Given the description of an element on the screen output the (x, y) to click on. 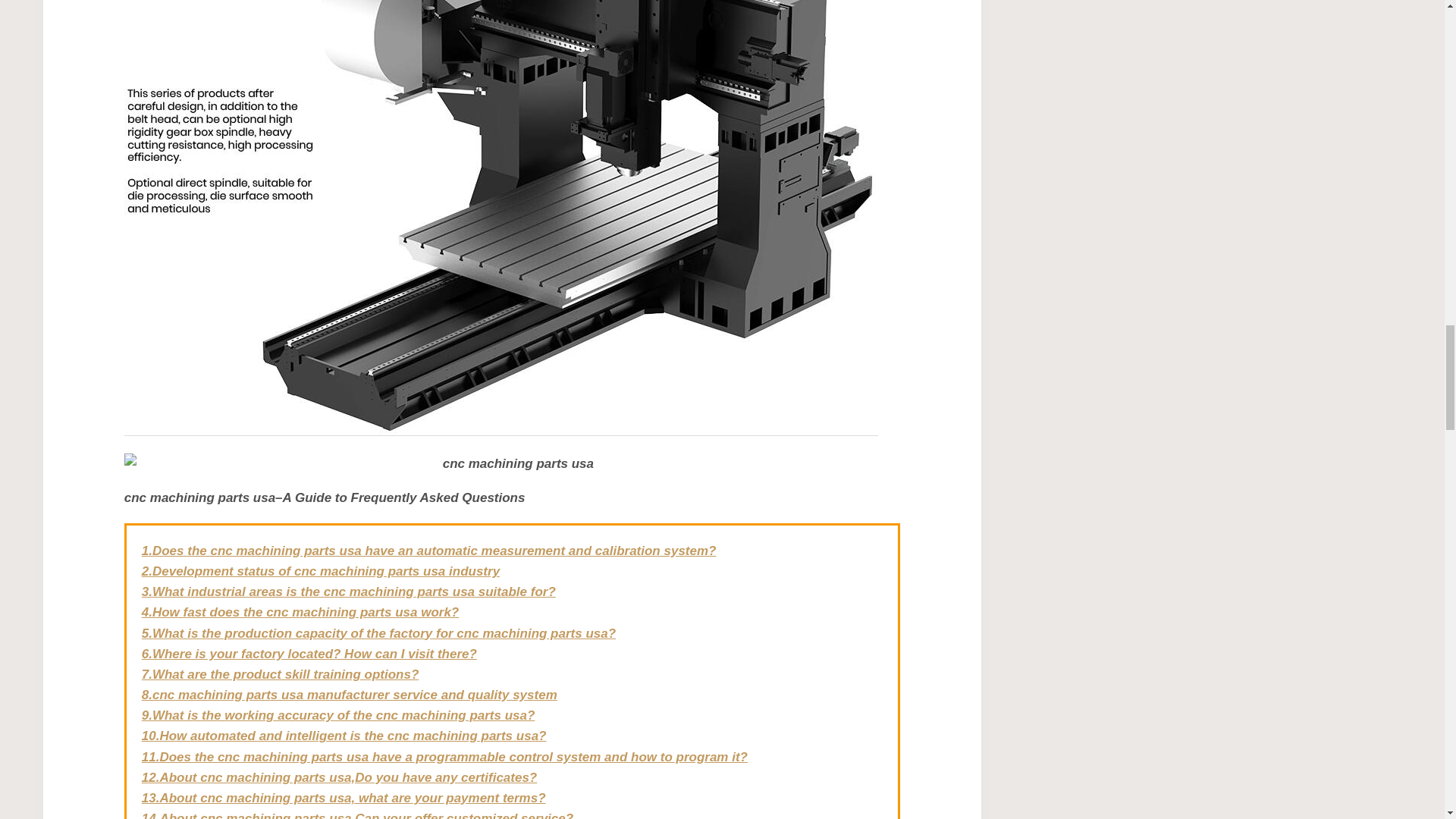
cnc machining parts usa (511, 463)
